Given the description of an element on the screen output the (x, y) to click on. 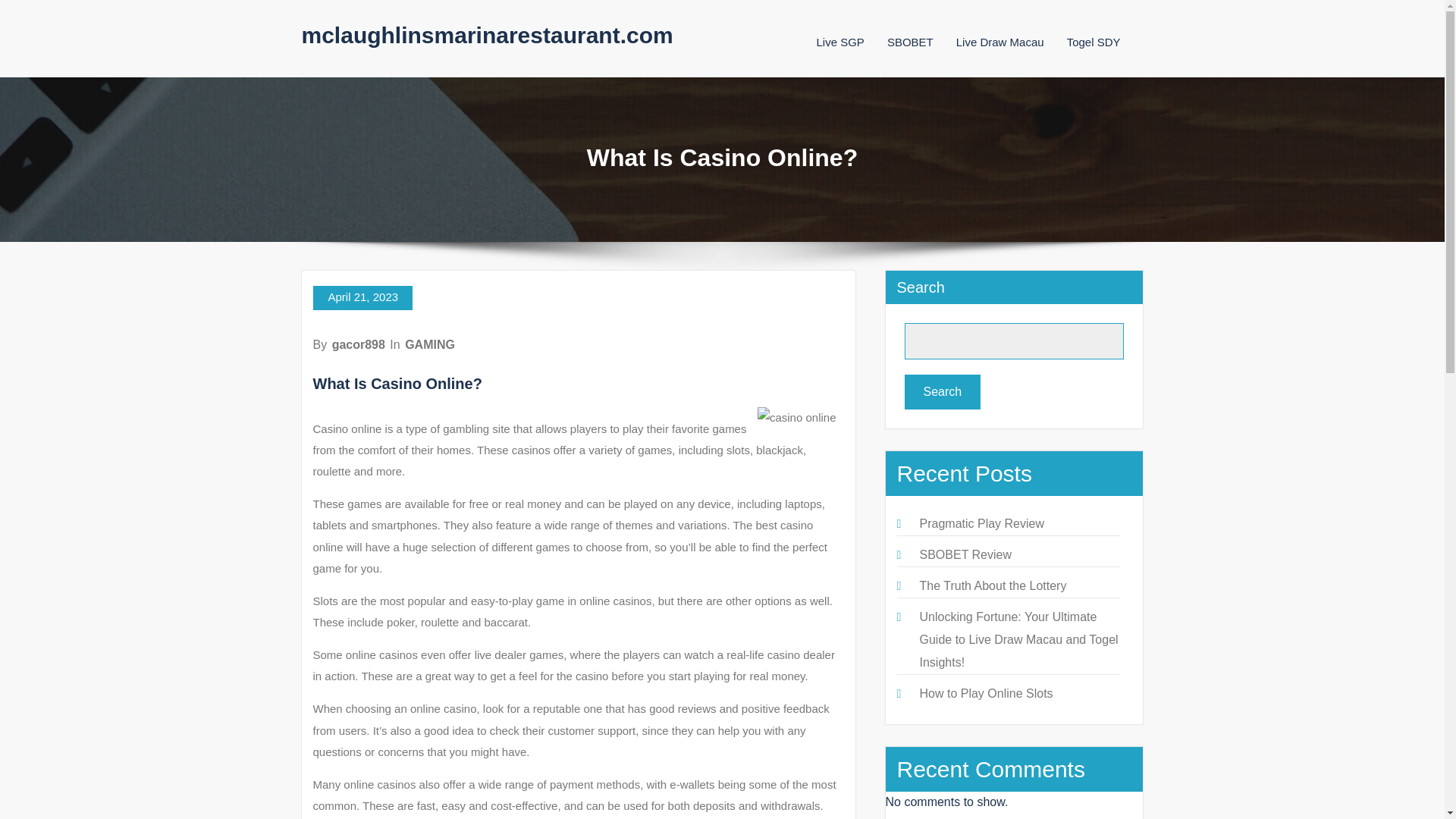
Live Draw Macau (999, 41)
GAMING (430, 344)
Pragmatic Play Review (980, 522)
SBOBET (909, 41)
Search (941, 391)
mclaughlinsmarinarestaurant.com (486, 34)
SBOBET Review (964, 554)
How to Play Online Slots (985, 693)
The Truth About the Lottery (991, 585)
Togel SDY (1094, 41)
Live SGP (839, 41)
April 21, 2023 (362, 297)
gacor898 (358, 344)
